Given the description of an element on the screen output the (x, y) to click on. 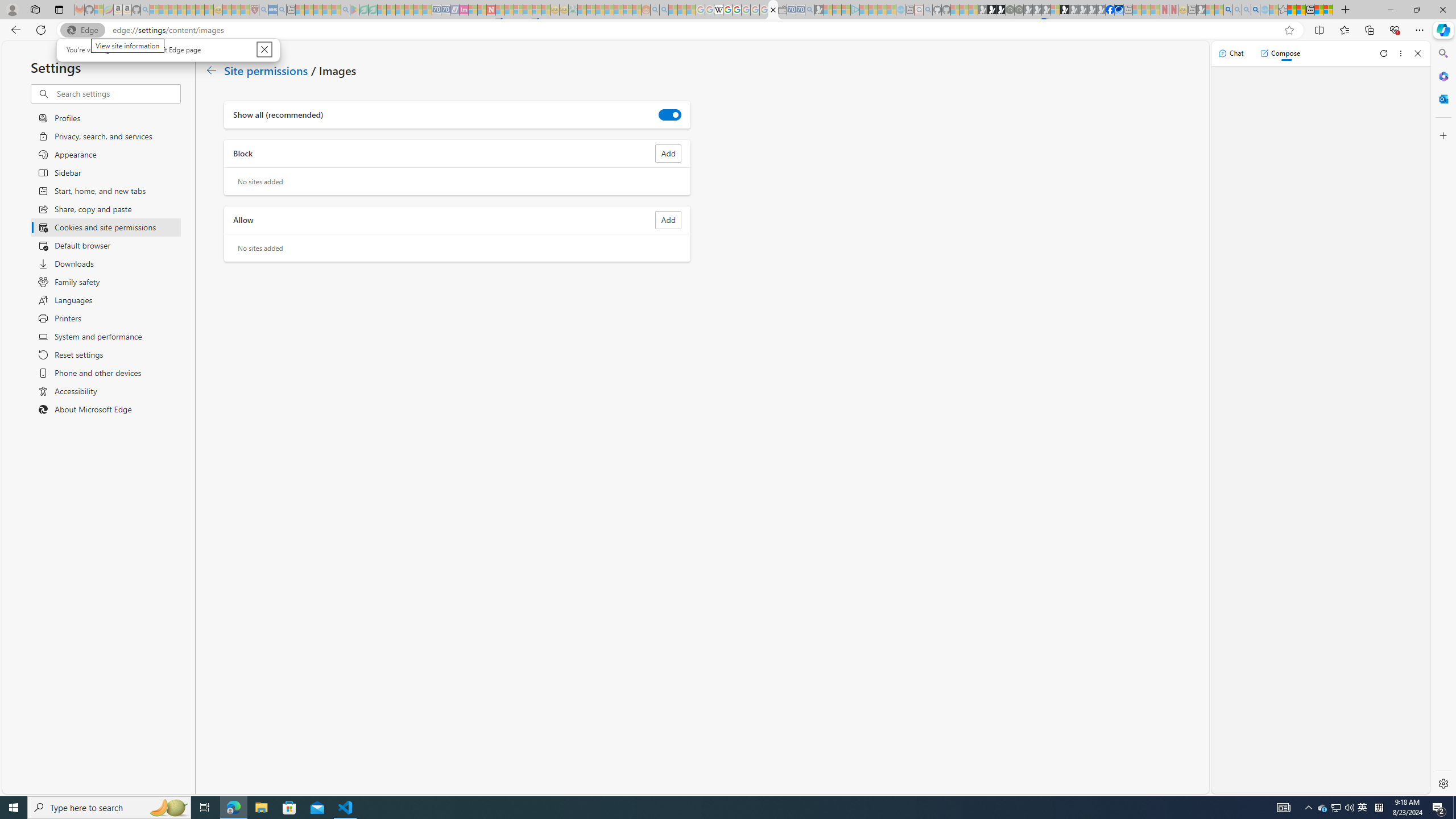
AutomationID: 4105 (1283, 807)
Search settings (117, 93)
Chat (1230, 52)
Show desktop (1454, 807)
User Promoted Notification Area (1336, 807)
Compose (1279, 52)
Aberdeen, Hong Kong SAR weather forecast | Microsoft Weather (1300, 9)
